Given the description of an element on the screen output the (x, y) to click on. 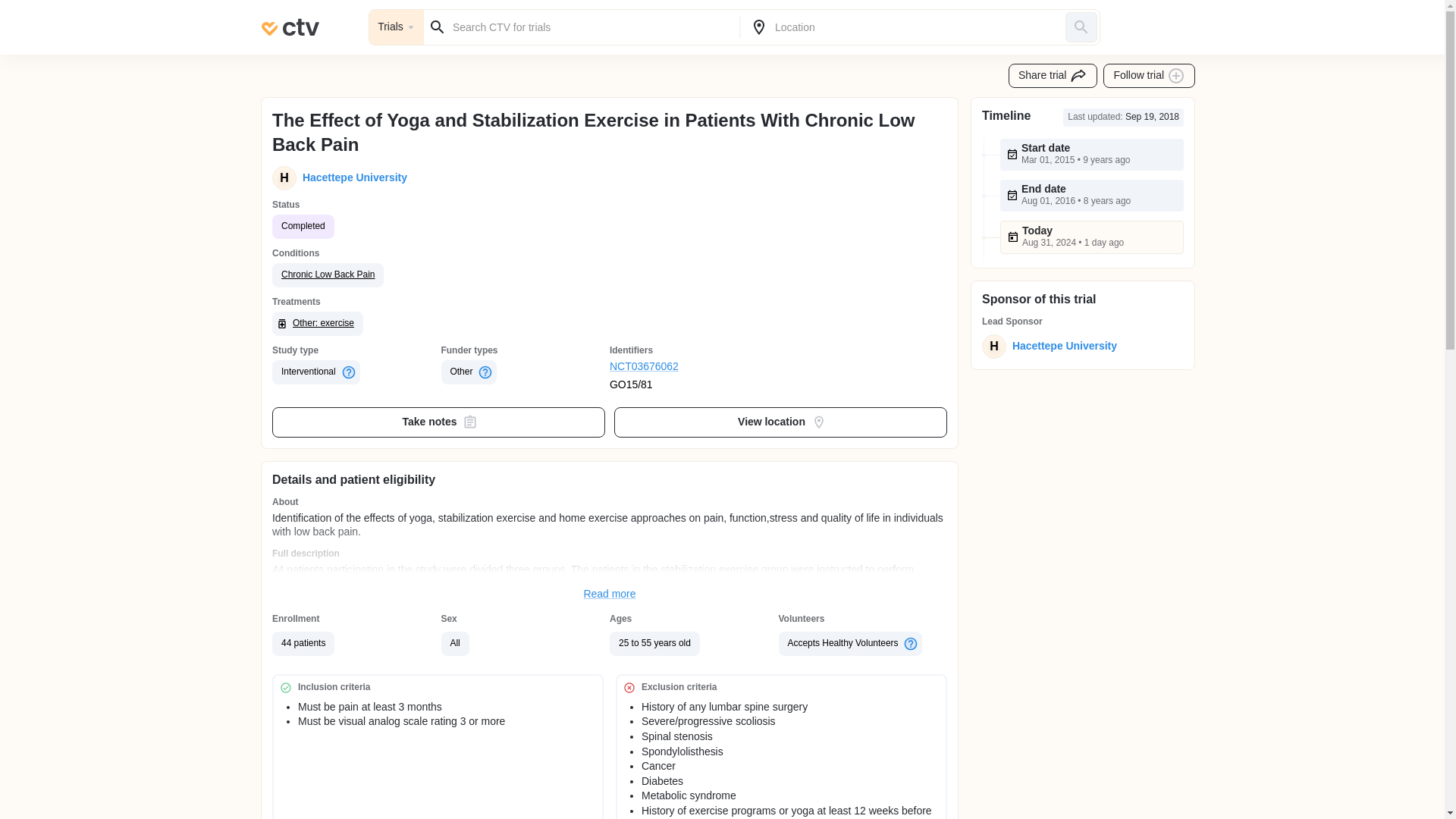
Hacettepe University (352, 178)
Take notes (438, 422)
NCT03676062 (694, 366)
Share trial (1053, 75)
Trials (396, 27)
Hacettepe University (1061, 345)
View location (780, 422)
Follow trial (1149, 75)
Read more (609, 594)
